Given the description of an element on the screen output the (x, y) to click on. 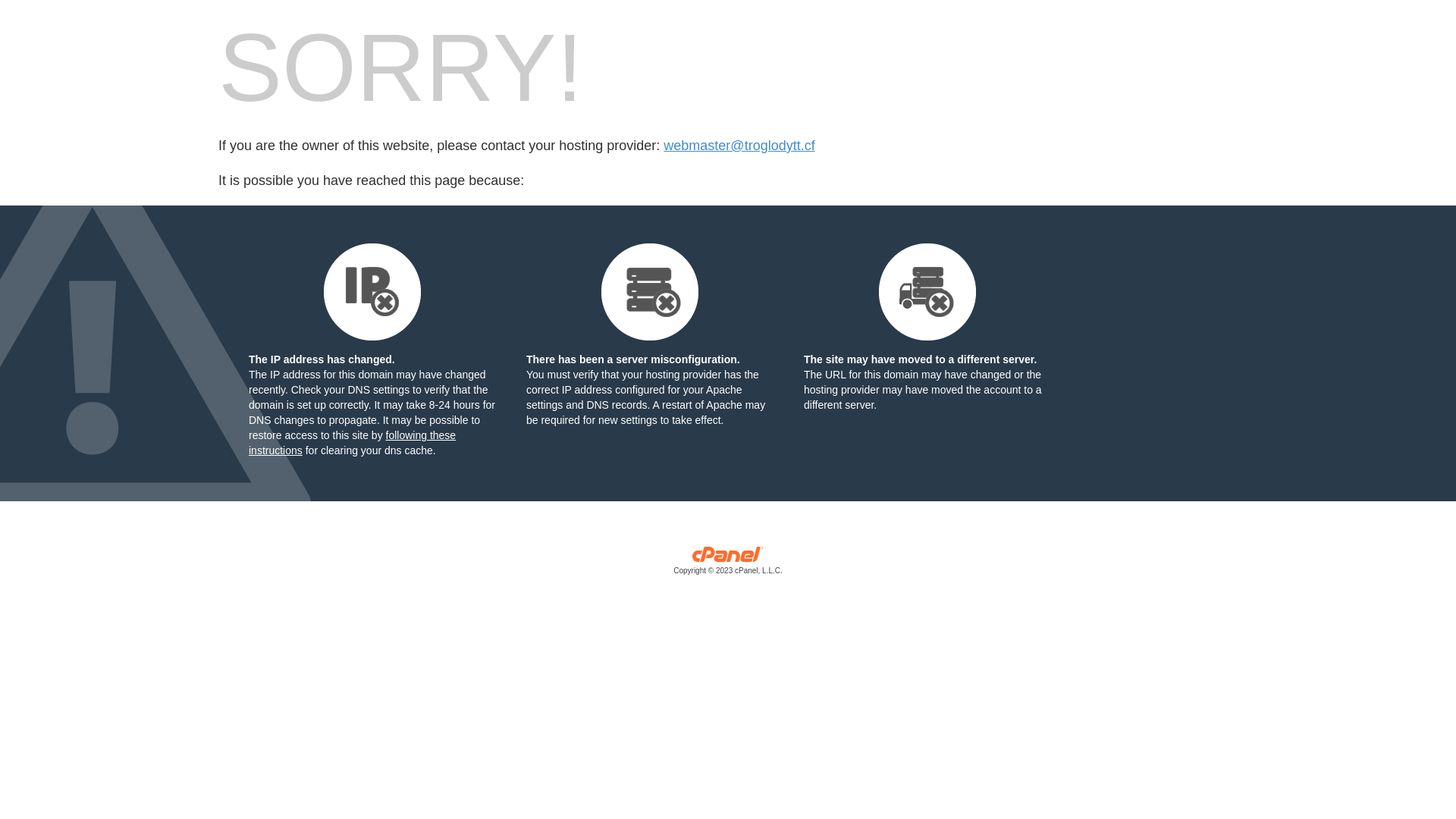
webmaster@troglodytt.cf Element type: text (738, 145)
following these instructions Element type: text (351, 442)
